Given the description of an element on the screen output the (x, y) to click on. 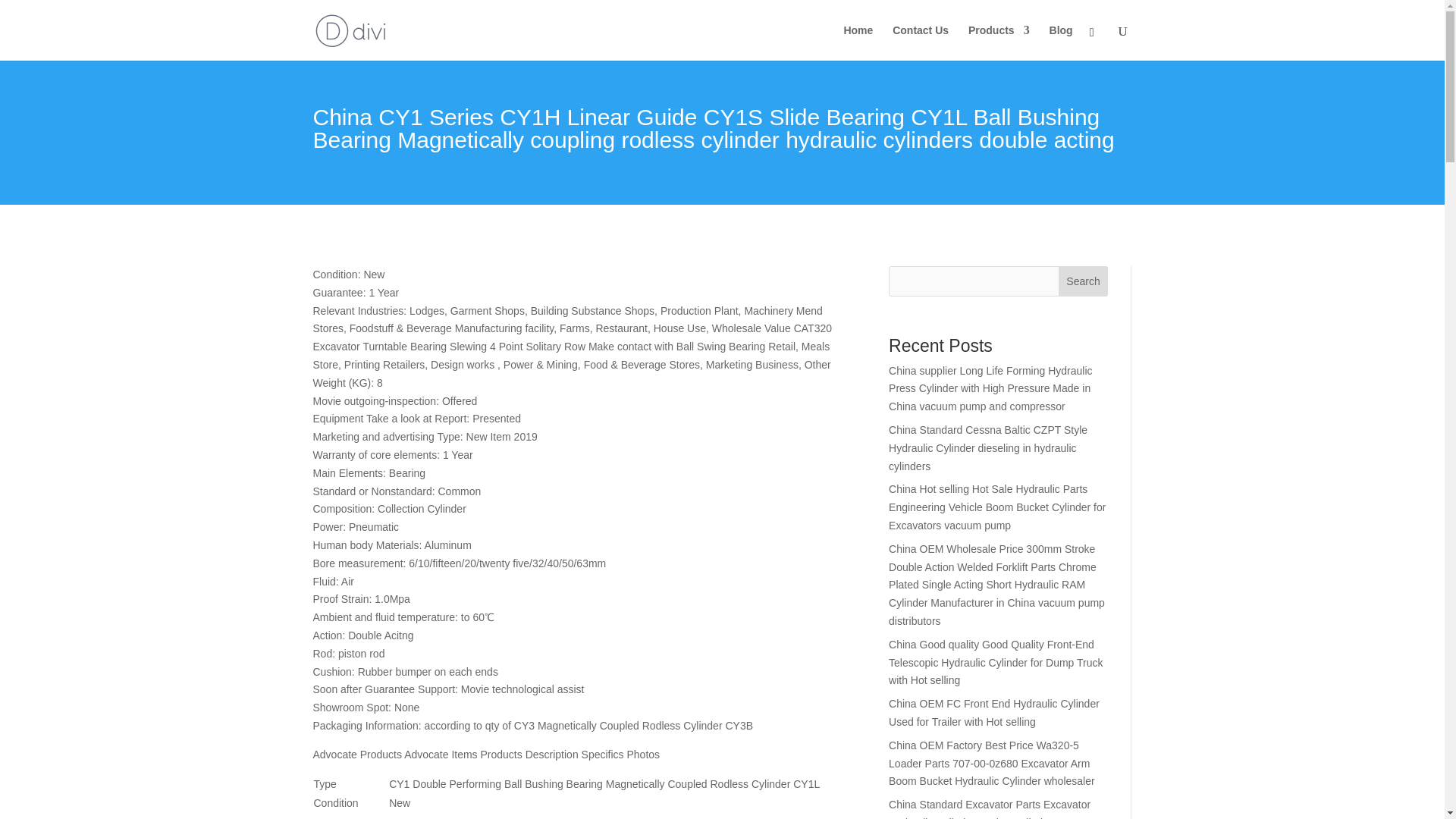
Products (998, 42)
Contact Us (920, 42)
